Given the description of an element on the screen output the (x, y) to click on. 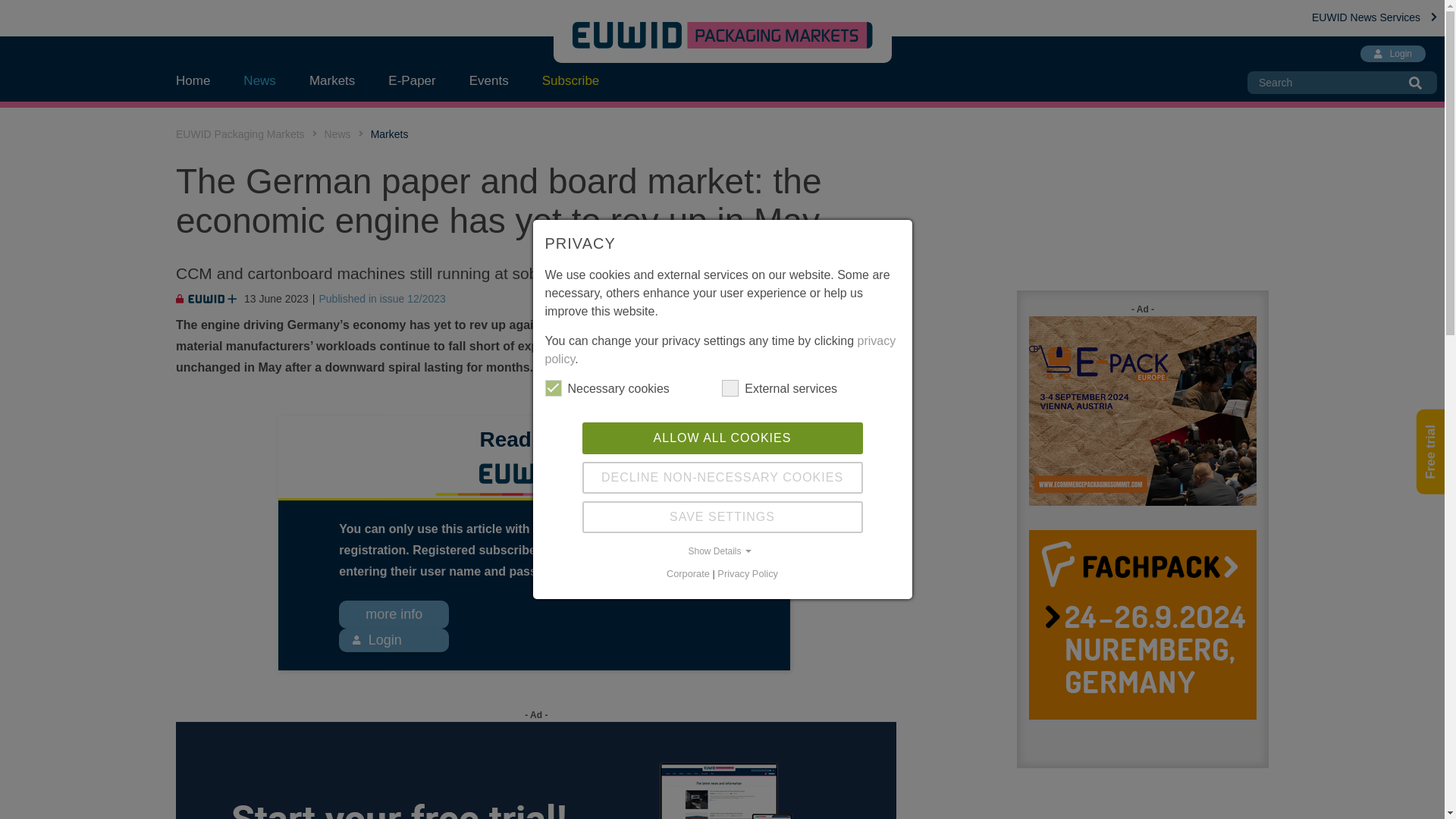
News (337, 133)
Login (1392, 53)
more info (393, 614)
Home (201, 80)
E-Paper (411, 80)
Markets (331, 80)
EUWID Packaging Markets (240, 133)
Markets (390, 133)
Login (376, 639)
EUWID News Services (1374, 17)
Subscribe (570, 80)
News (259, 80)
Events (488, 80)
